Given the description of an element on the screen output the (x, y) to click on. 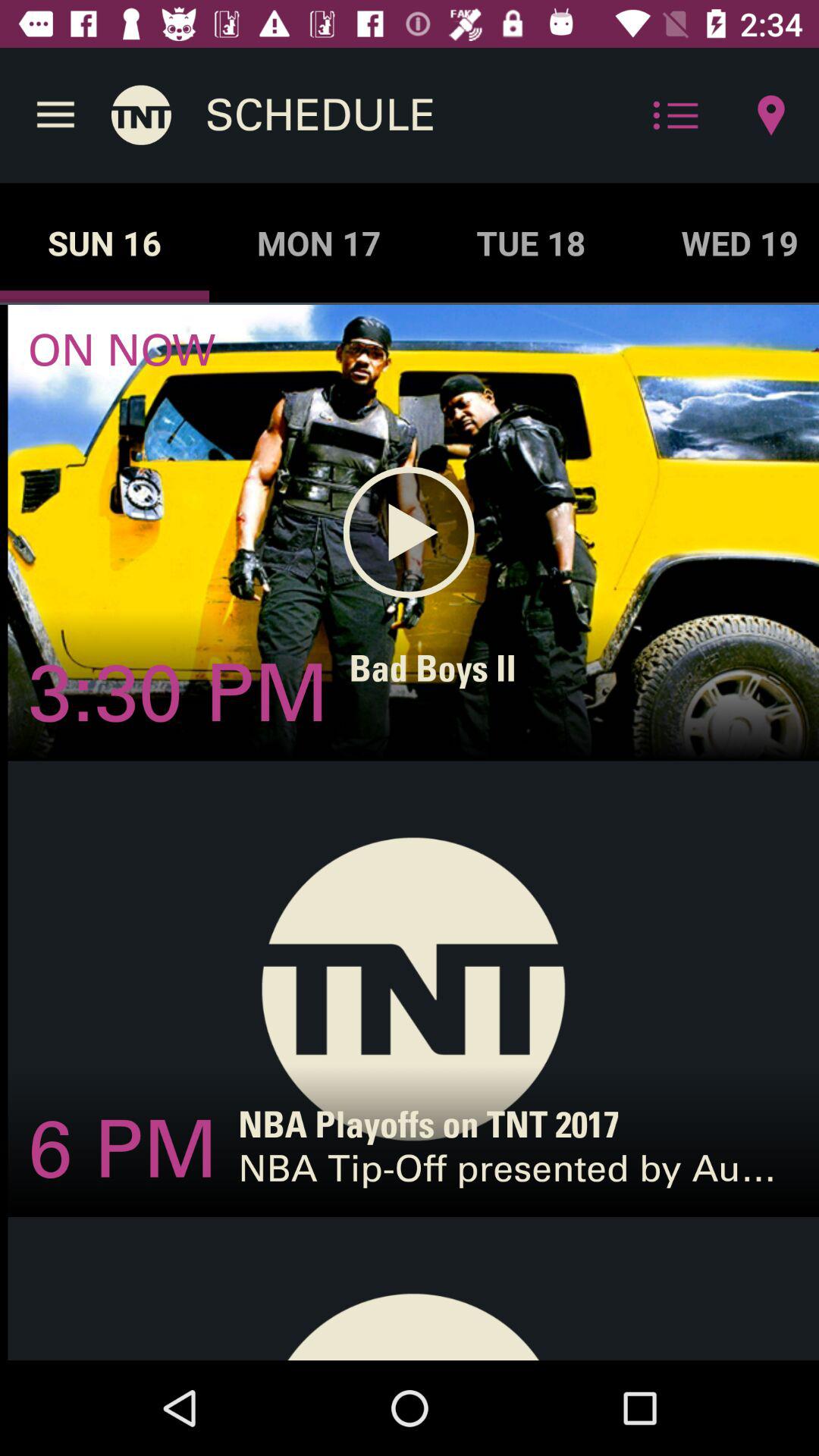
select icon next to wed 19 icon (530, 242)
